Given the description of an element on the screen output the (x, y) to click on. 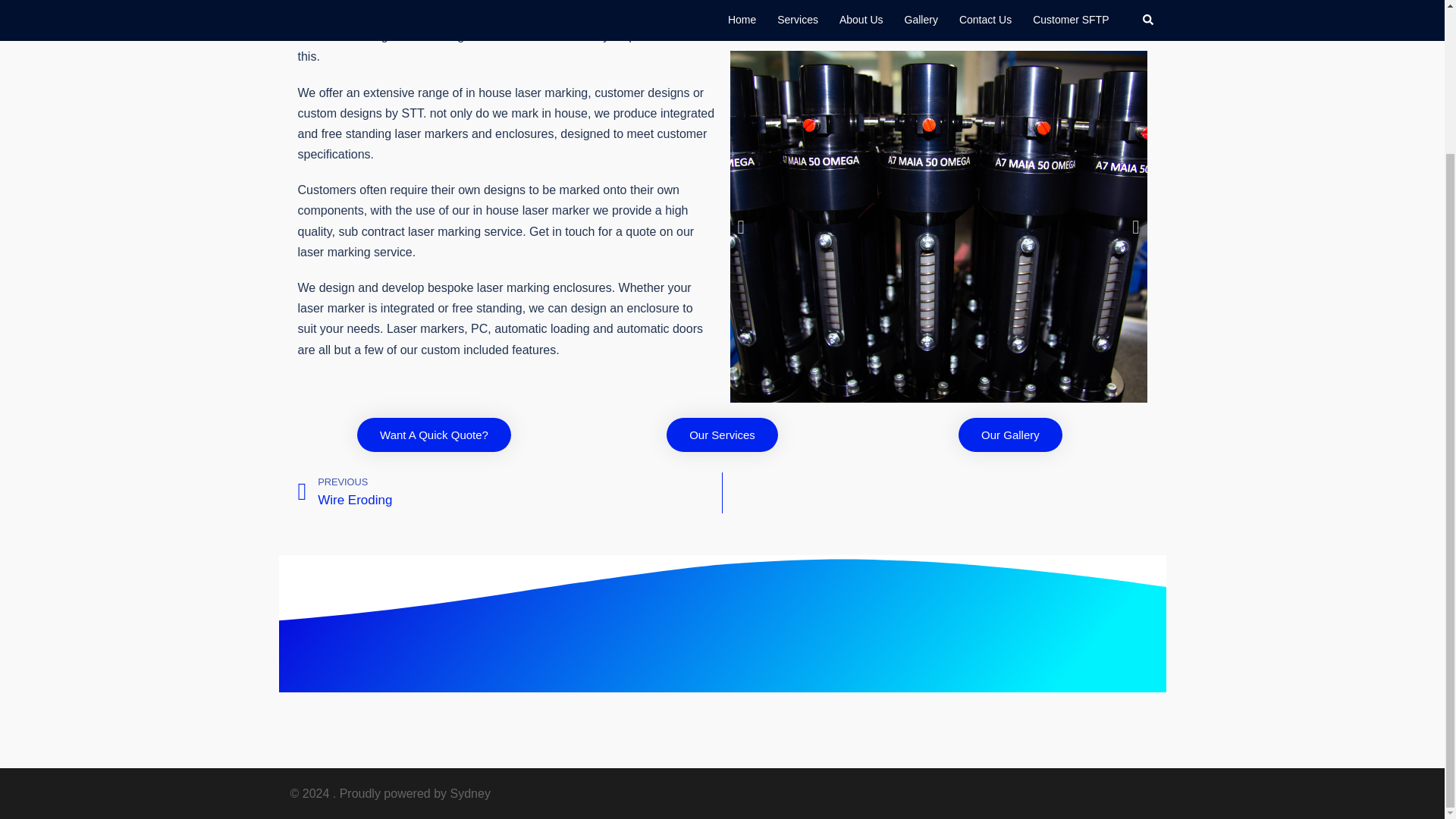
Our Gallery (1010, 434)
Sydney (469, 793)
Want A Quick Quote? (509, 492)
Our Services (433, 434)
